Given the description of an element on the screen output the (x, y) to click on. 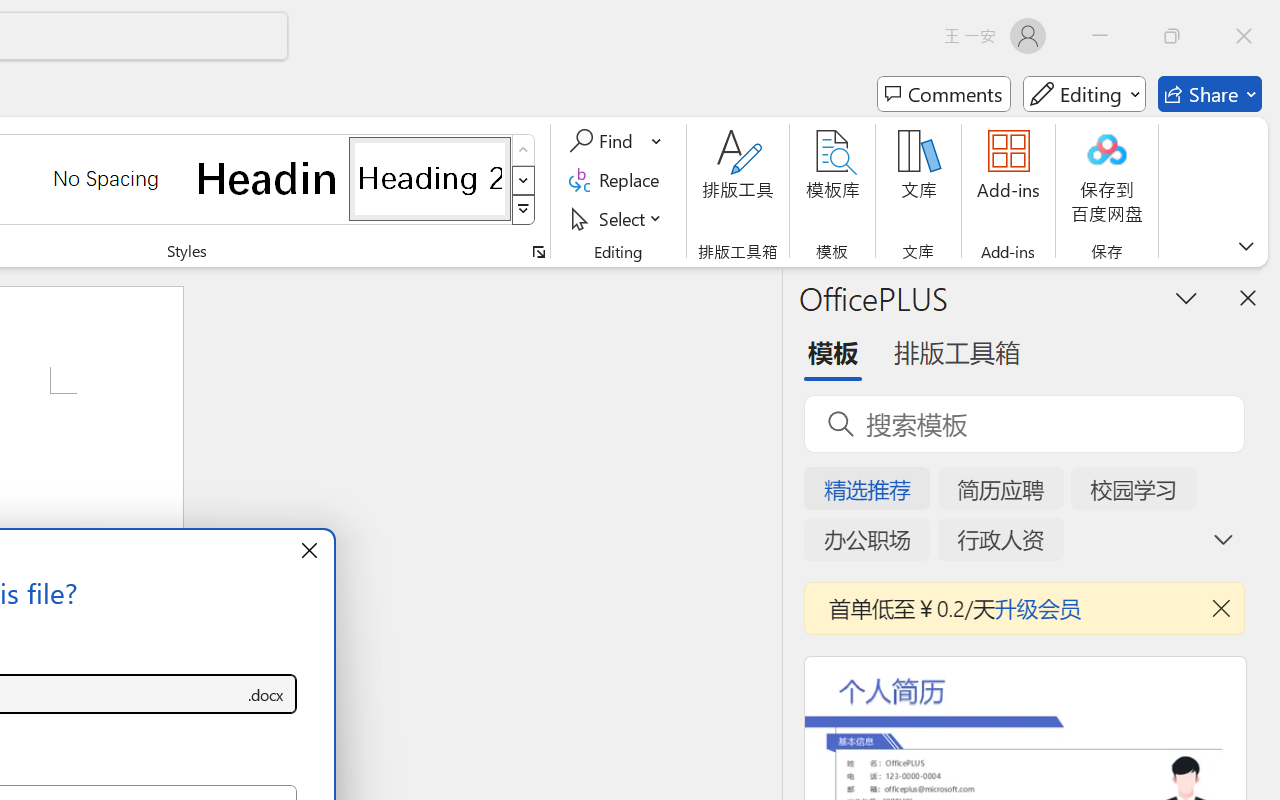
Ribbon Display Options (1246, 245)
Find (616, 141)
Restore Down (1172, 36)
Row Down (523, 180)
Task Pane Options (1186, 297)
Styles (523, 209)
Class: NetUIImage (523, 210)
Heading 2 (429, 178)
